Given the description of an element on the screen output the (x, y) to click on. 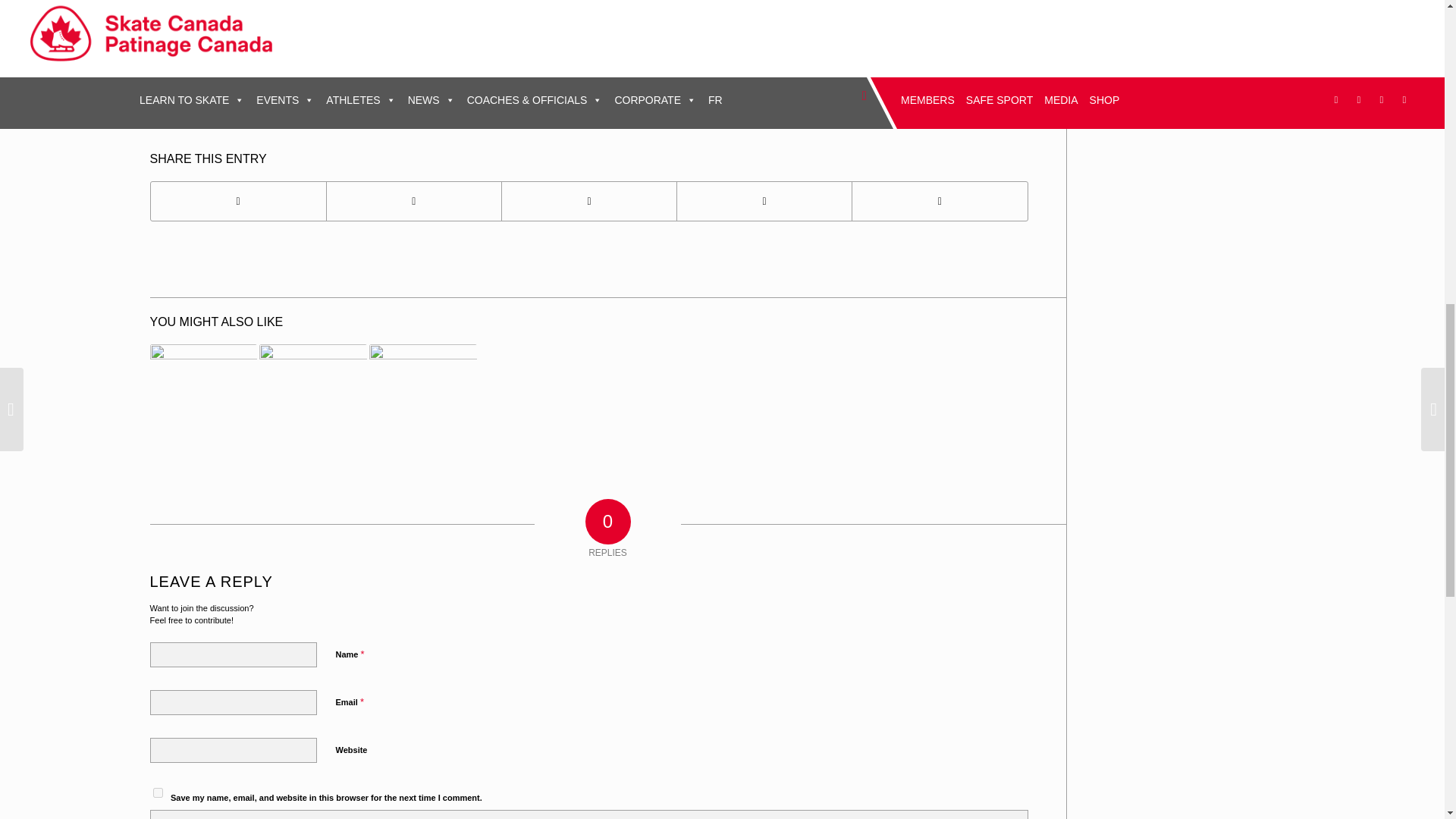
yes (157, 792)
